Given the description of an element on the screen output the (x, y) to click on. 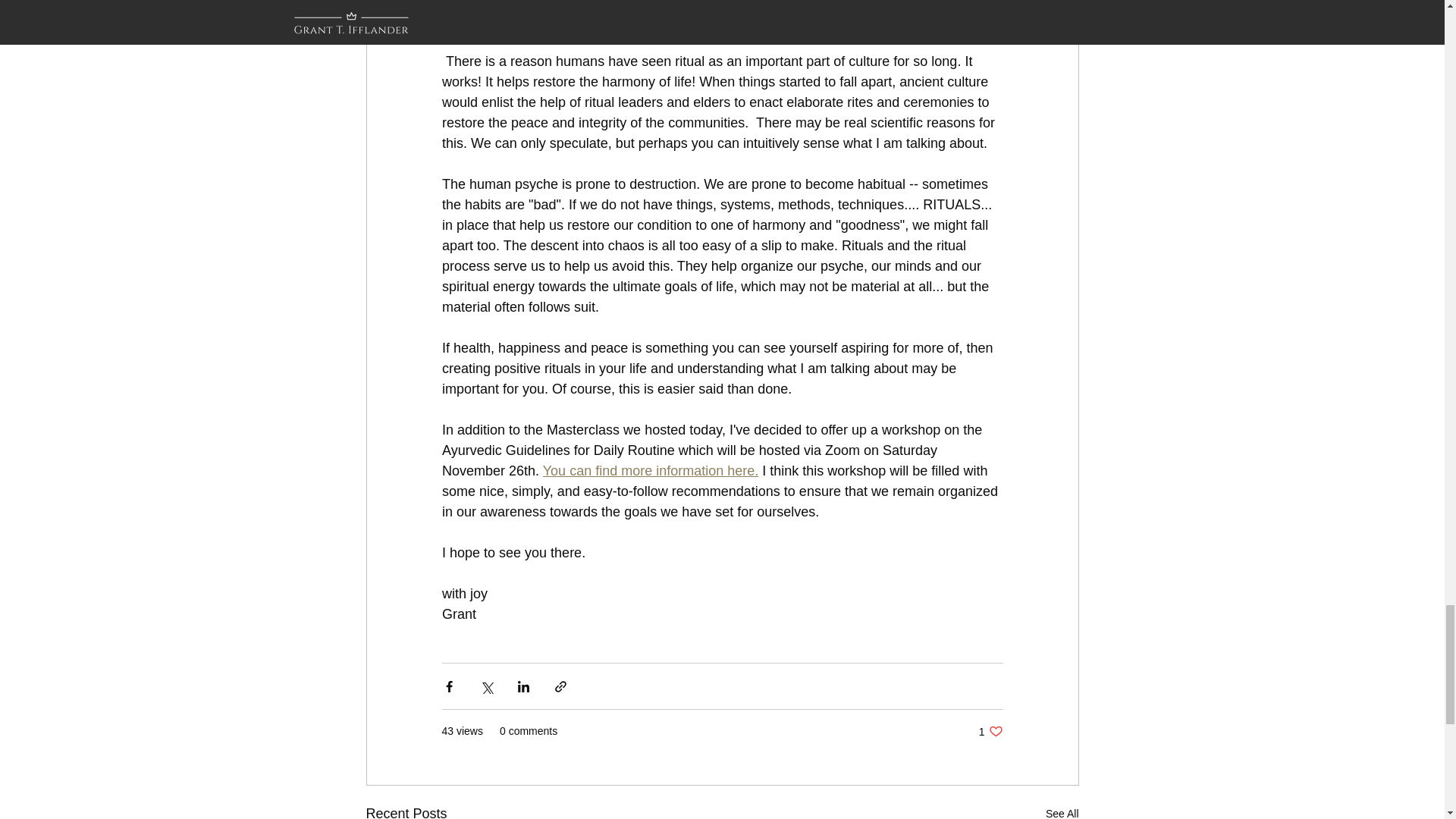
You can find more information here. (649, 470)
See All (1061, 811)
